Given the description of an element on the screen output the (x, y) to click on. 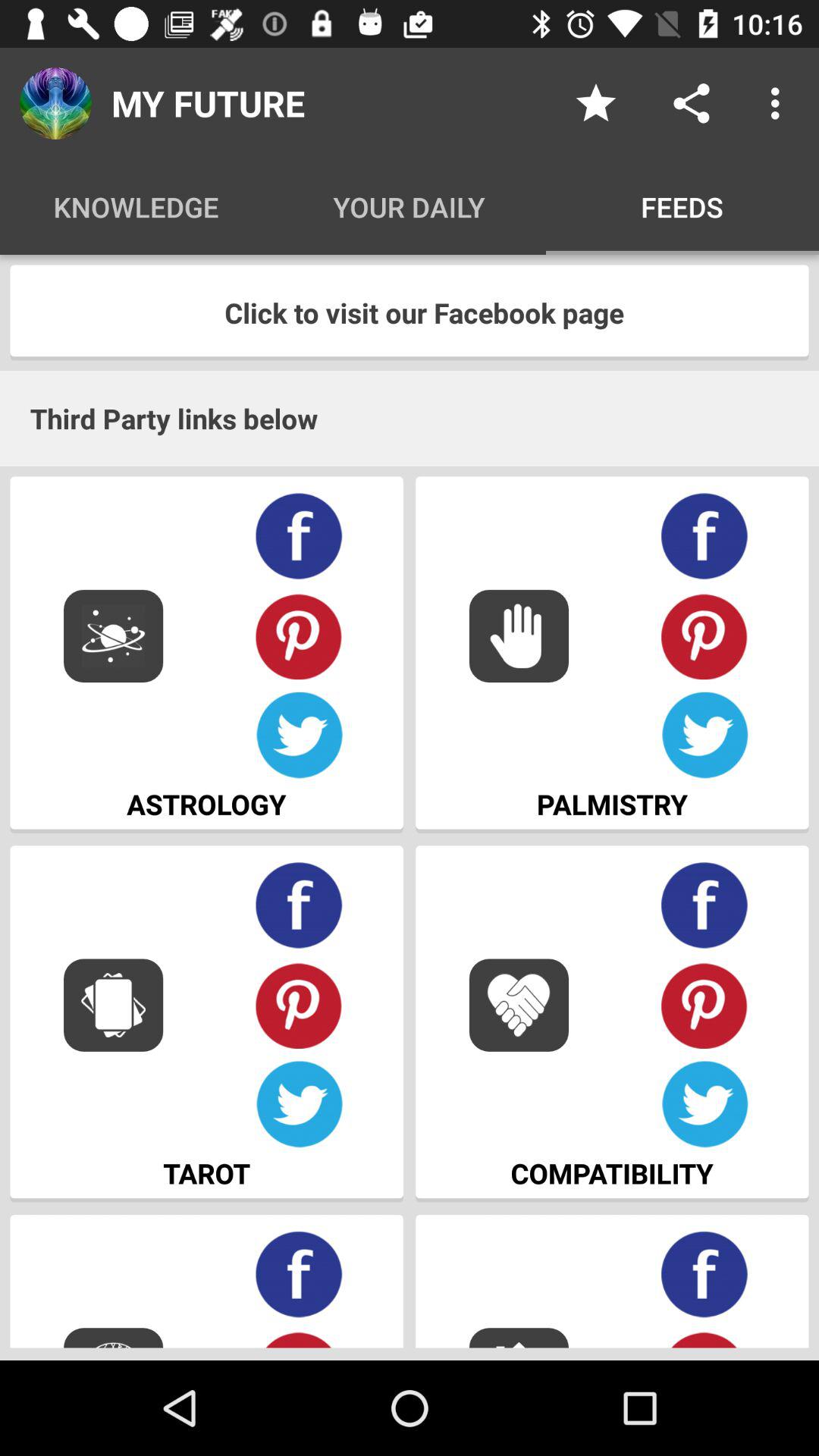
share to facebook (299, 536)
